Given the description of an element on the screen output the (x, y) to click on. 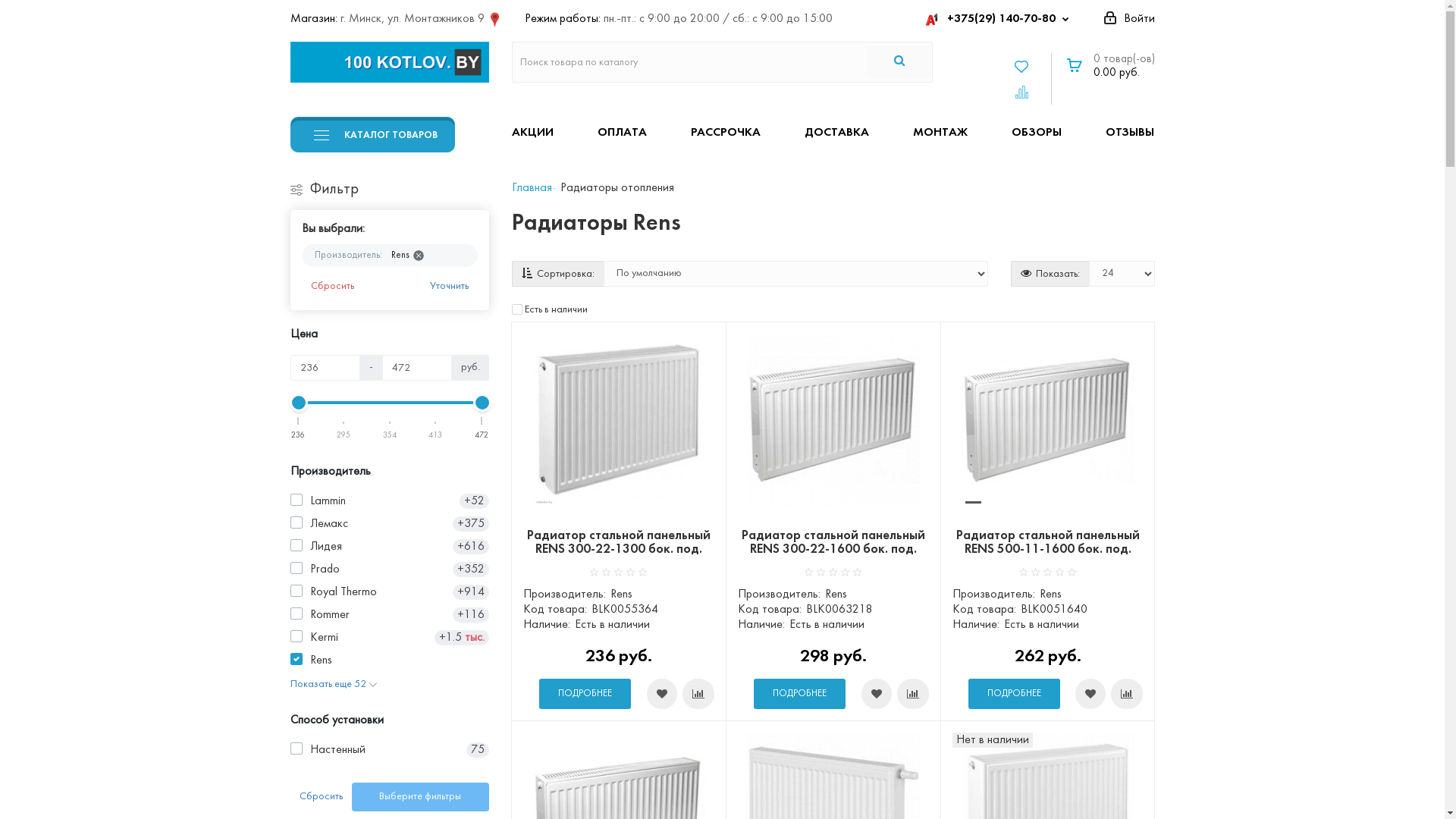
Rommer
+116 Element type: text (389, 614)
Lammin
+52 Element type: text (389, 501)
Rens Element type: text (405, 255)
Royal Thermo
+914 Element type: text (389, 592)
Rens Element type: text (389, 660)
+375(29) 140-70-80 Element type: text (999, 18)
Prado
+352 Element type: text (389, 569)
100kotlov.by Element type: hover (389, 61)
